Given the description of an element on the screen output the (x, y) to click on. 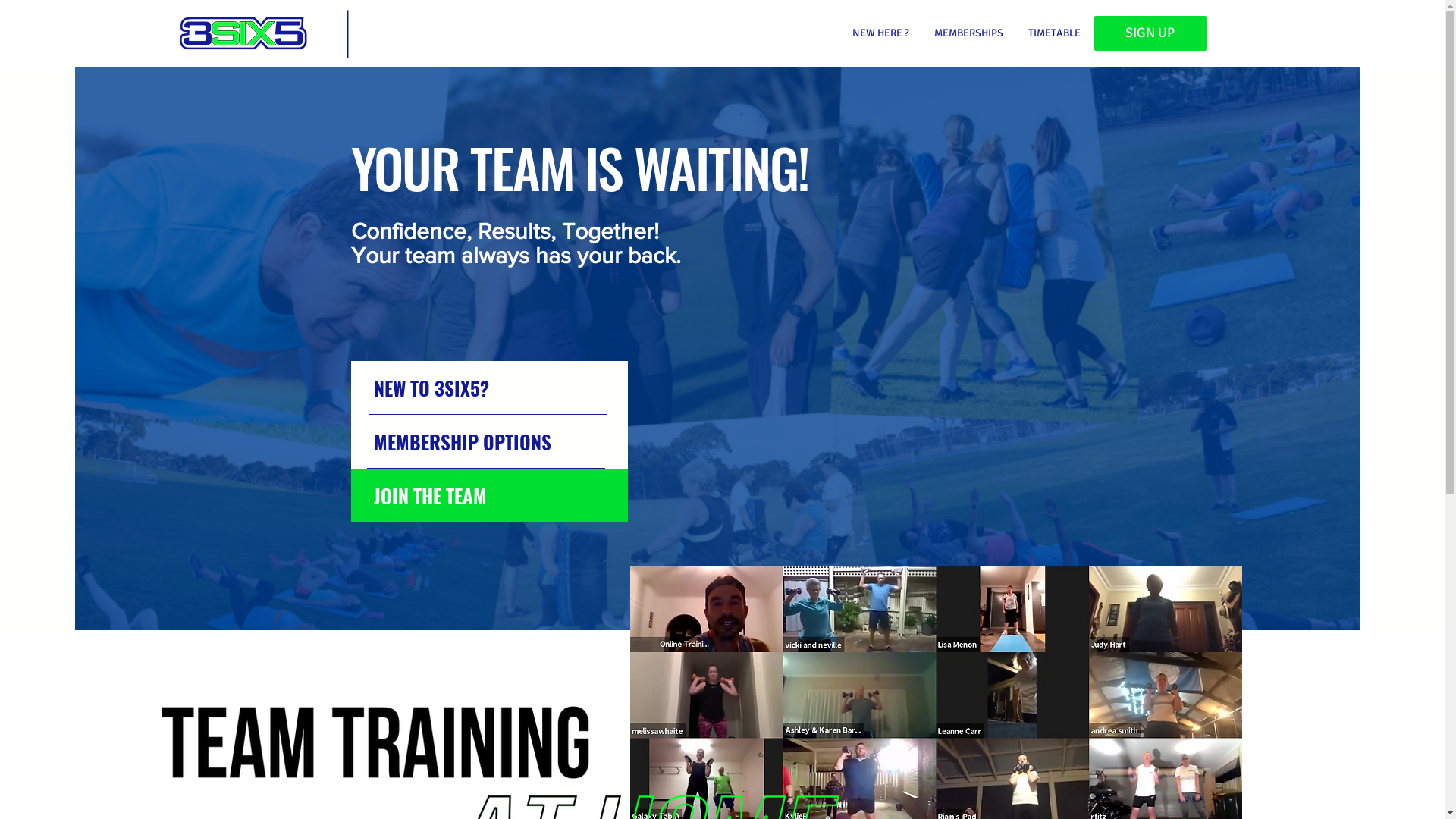
TIMETABLE Element type: text (1054, 32)
MEMBERSHIPS Element type: text (969, 32)
NEW HERE ? Element type: text (879, 32)
MEMBERSHIP OPTIONS Element type: text (488, 441)
SIGN UP Element type: text (1149, 32)
JOIN THE TEAM Element type: text (488, 494)
